Given the description of an element on the screen output the (x, y) to click on. 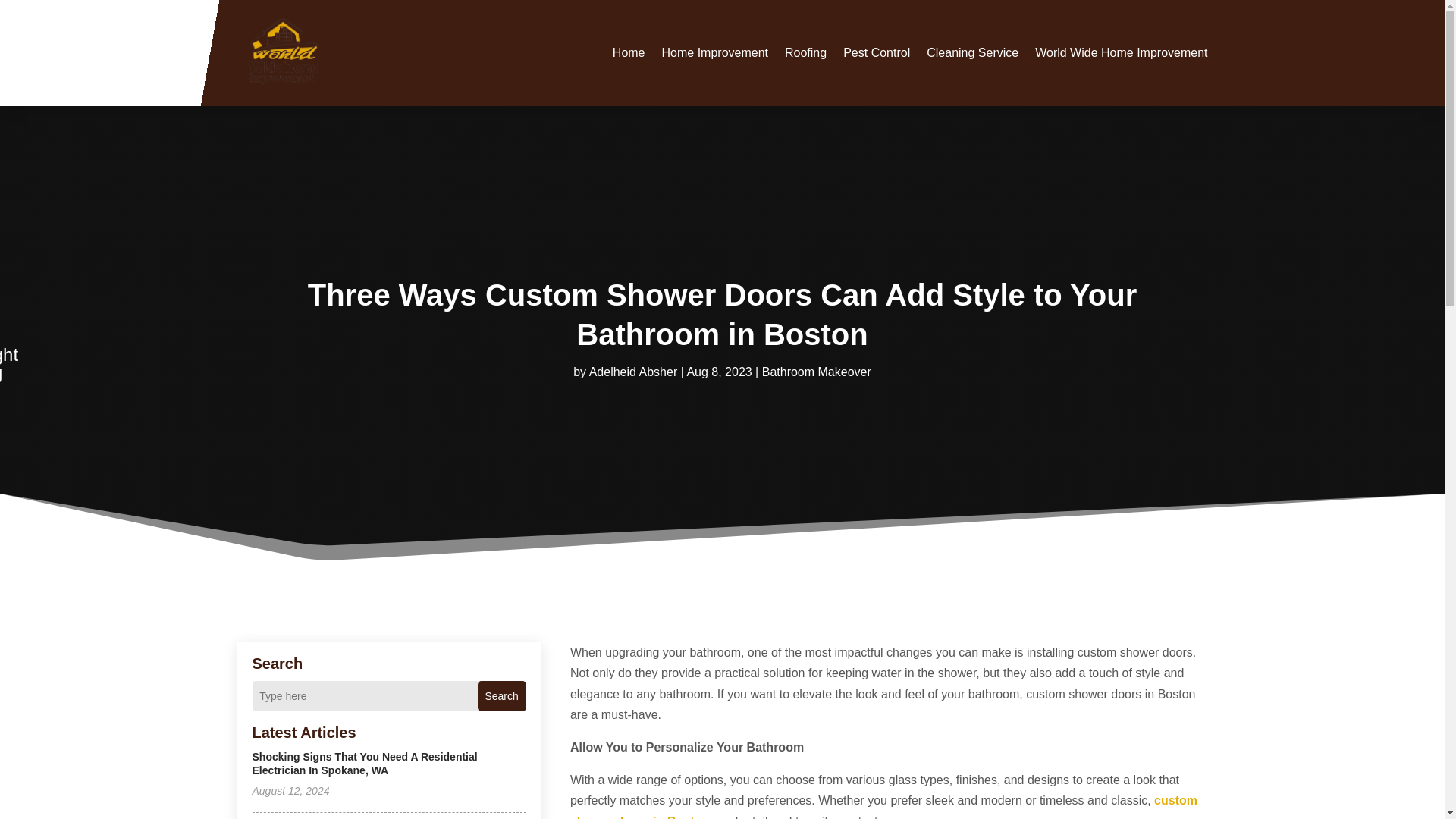
Bathroom Makeover (815, 371)
World Wide Home Improvement (1121, 52)
Posts by Adelheid Absher (633, 371)
Home Improvement (715, 52)
Cleaning Service (971, 52)
Adelheid Absher (633, 371)
Search (501, 695)
